Given the description of an element on the screen output the (x, y) to click on. 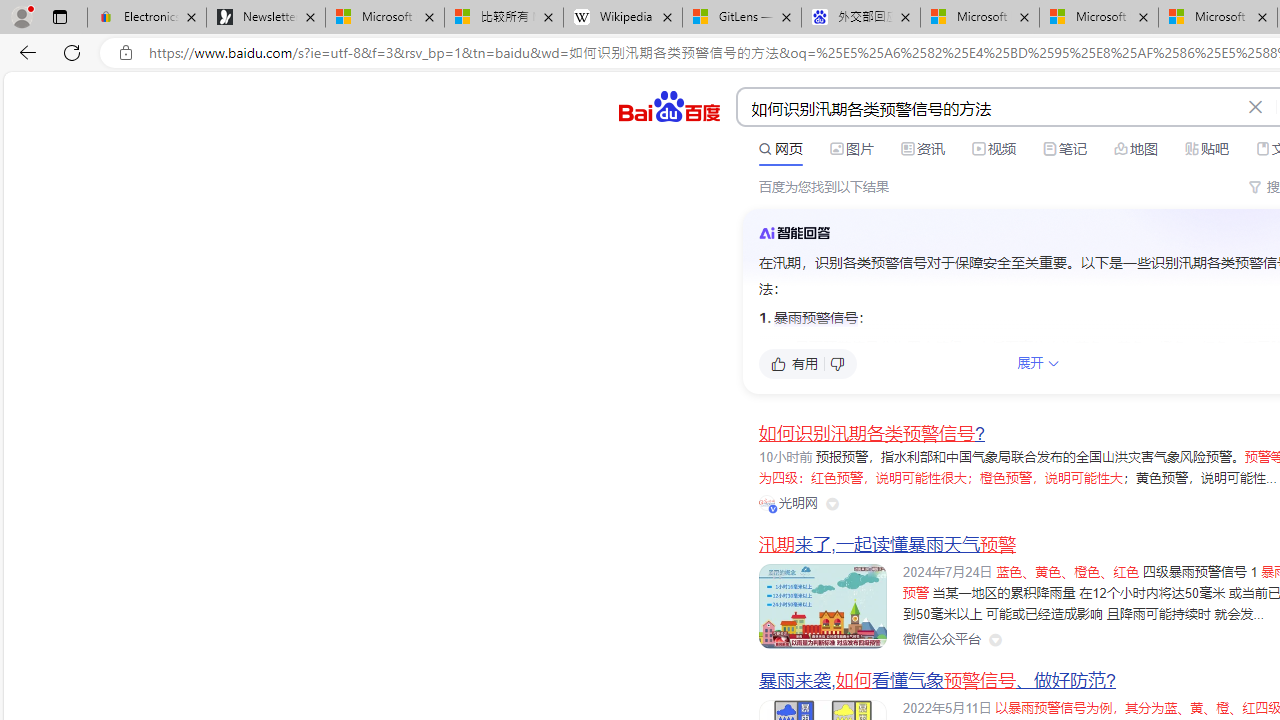
Class: siteLink_9TPP3 (941, 639)
Class: img-light_7jMUg (794, 232)
Newsletter Sign Up (266, 17)
